Given the description of an element on the screen output the (x, y) to click on. 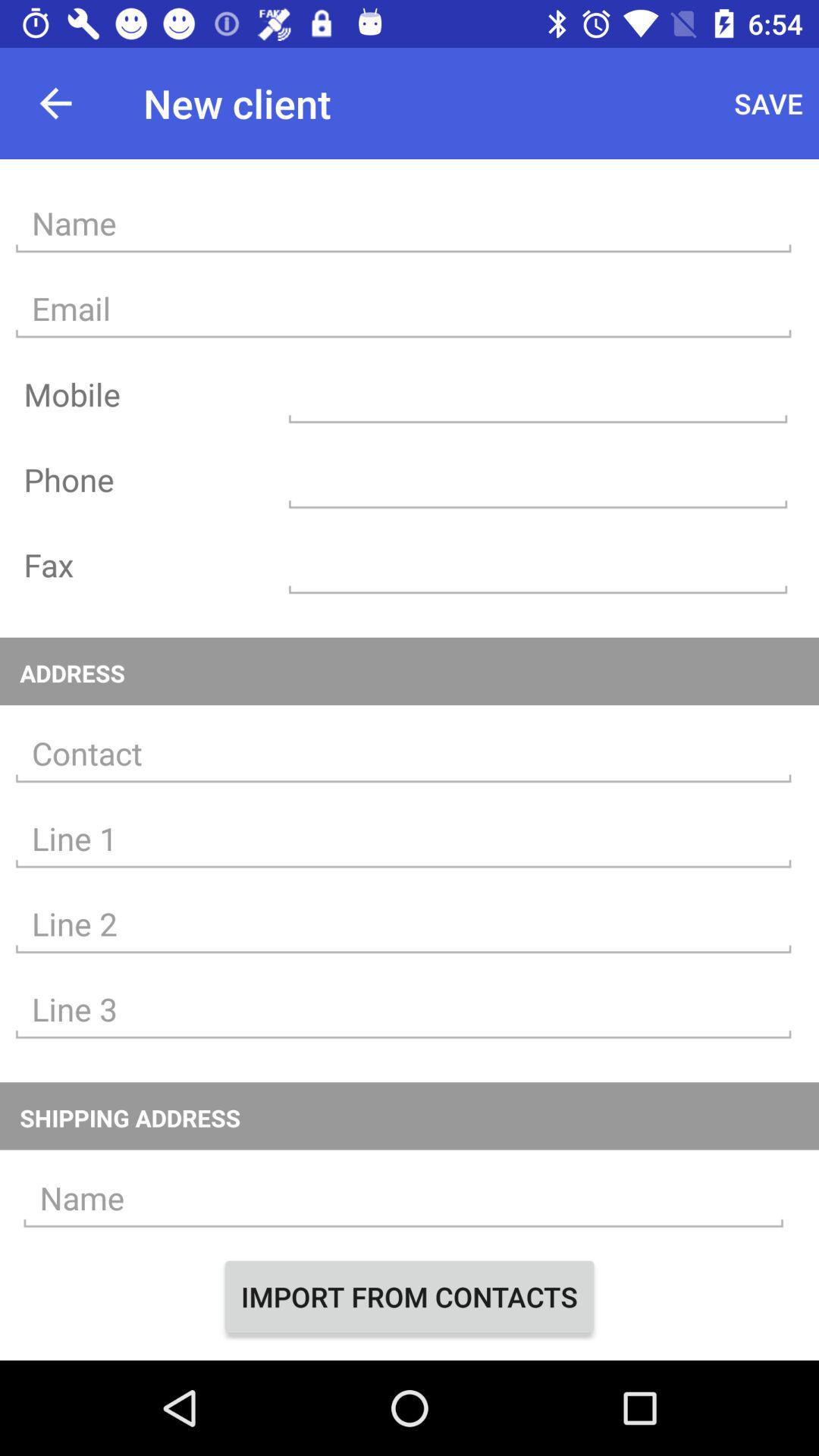
press save (768, 103)
